Given the description of an element on the screen output the (x, y) to click on. 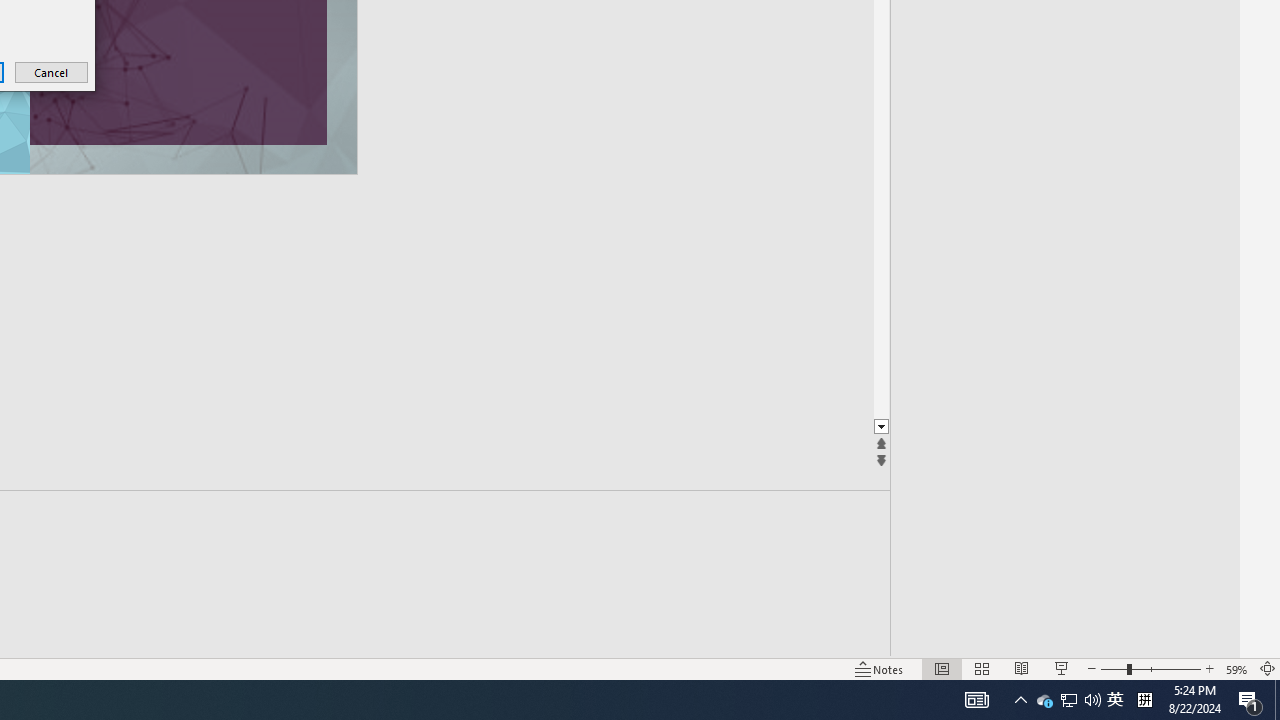
Zoom 59% (1236, 668)
Cancel (1044, 699)
